Given the description of an element on the screen output the (x, y) to click on. 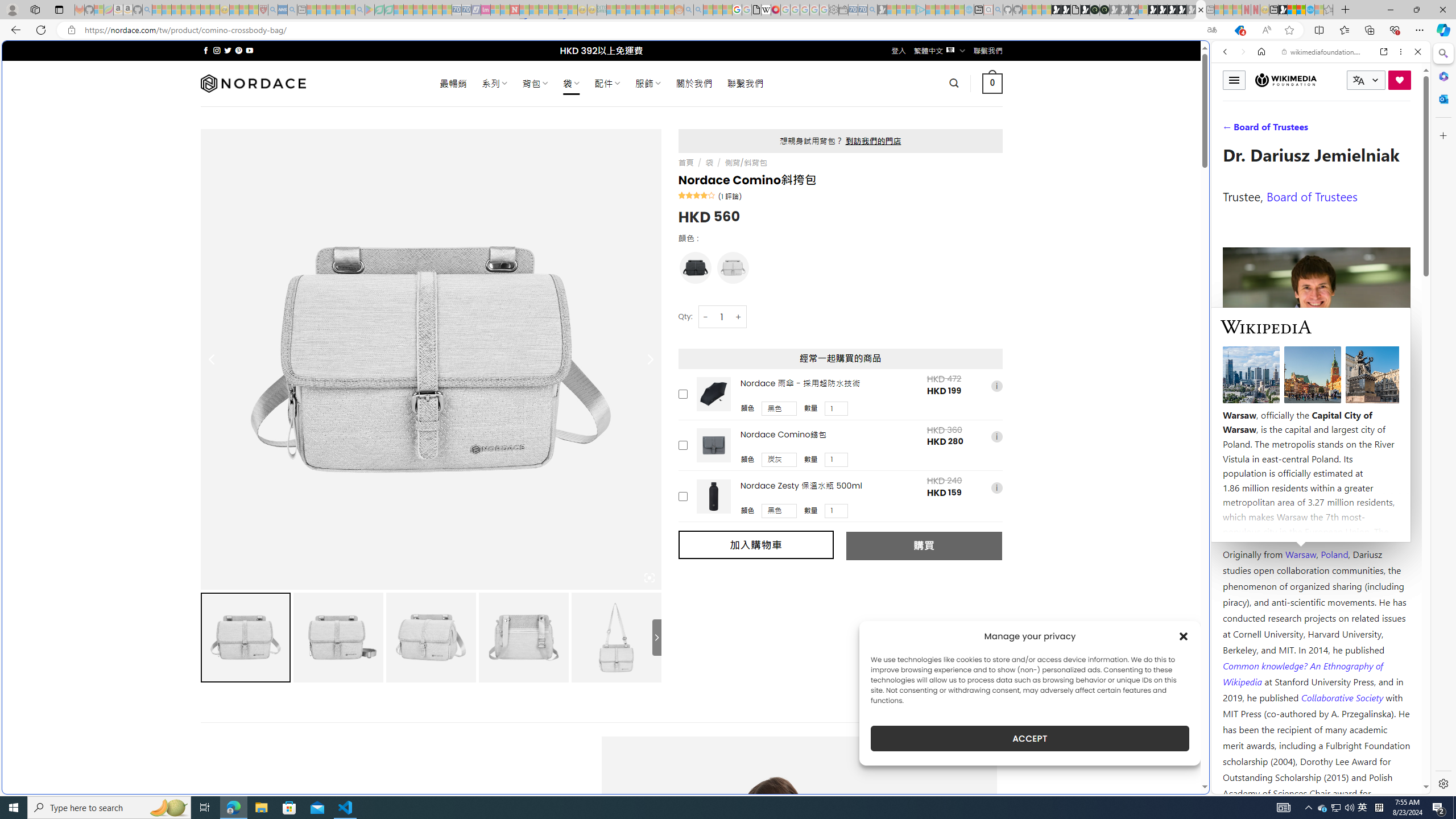
github - Search - Sleeping (997, 9)
Common knowledge? An Ethnography of Wikipedia (1302, 672)
Wikimedia Foundation (1286, 79)
